Given the description of an element on the screen output the (x, y) to click on. 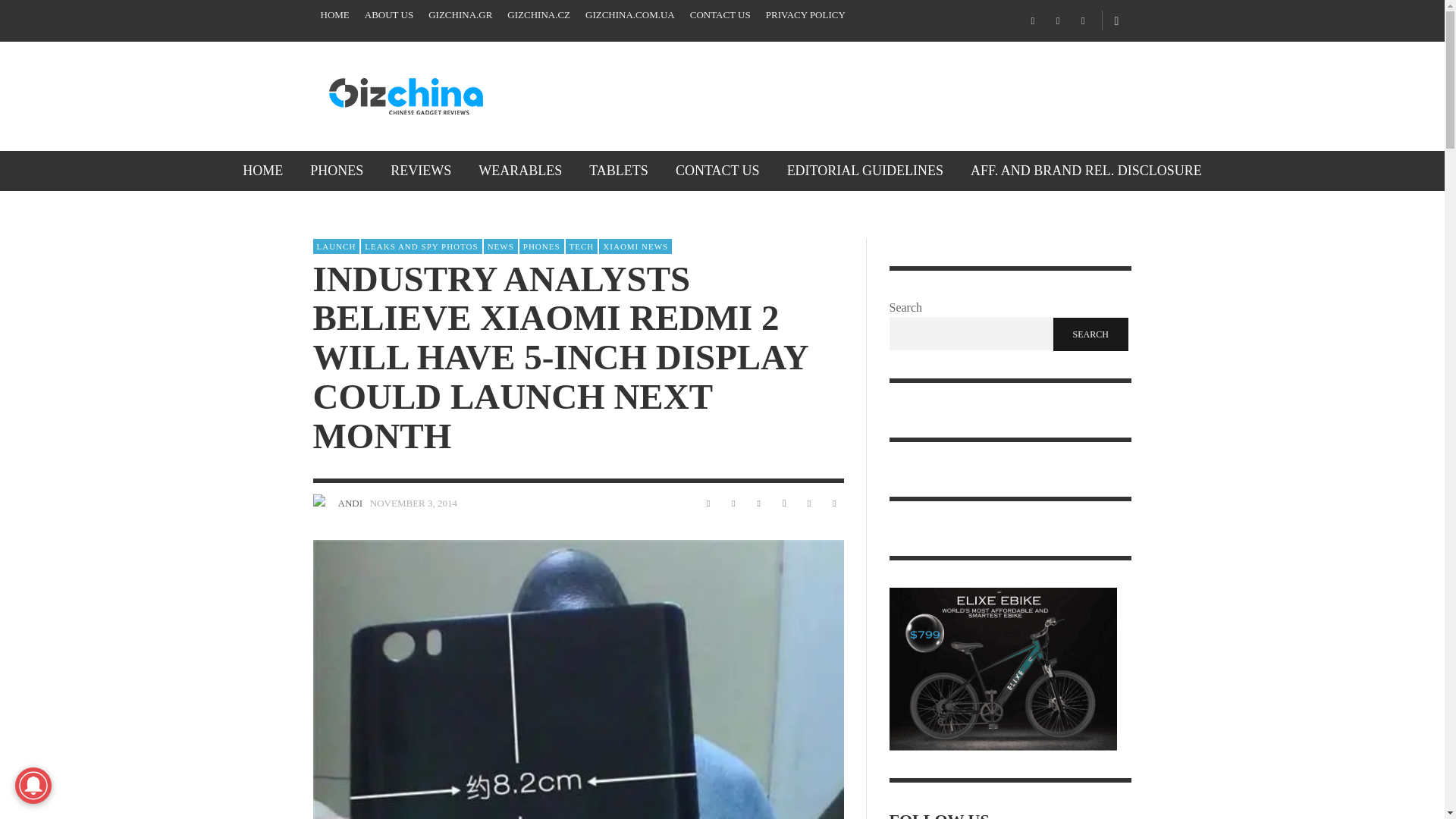
PHONES (337, 170)
ABOUT US (388, 15)
HOME (262, 170)
REVIEWS (420, 170)
PRIVACY POLICY (805, 15)
HOME (334, 15)
GIZCHINA.COM.UA (630, 15)
GIZCHINA.CZ (538, 15)
CONTACT US (720, 15)
GIZCHINA.GR (459, 15)
